Given the description of an element on the screen output the (x, y) to click on. 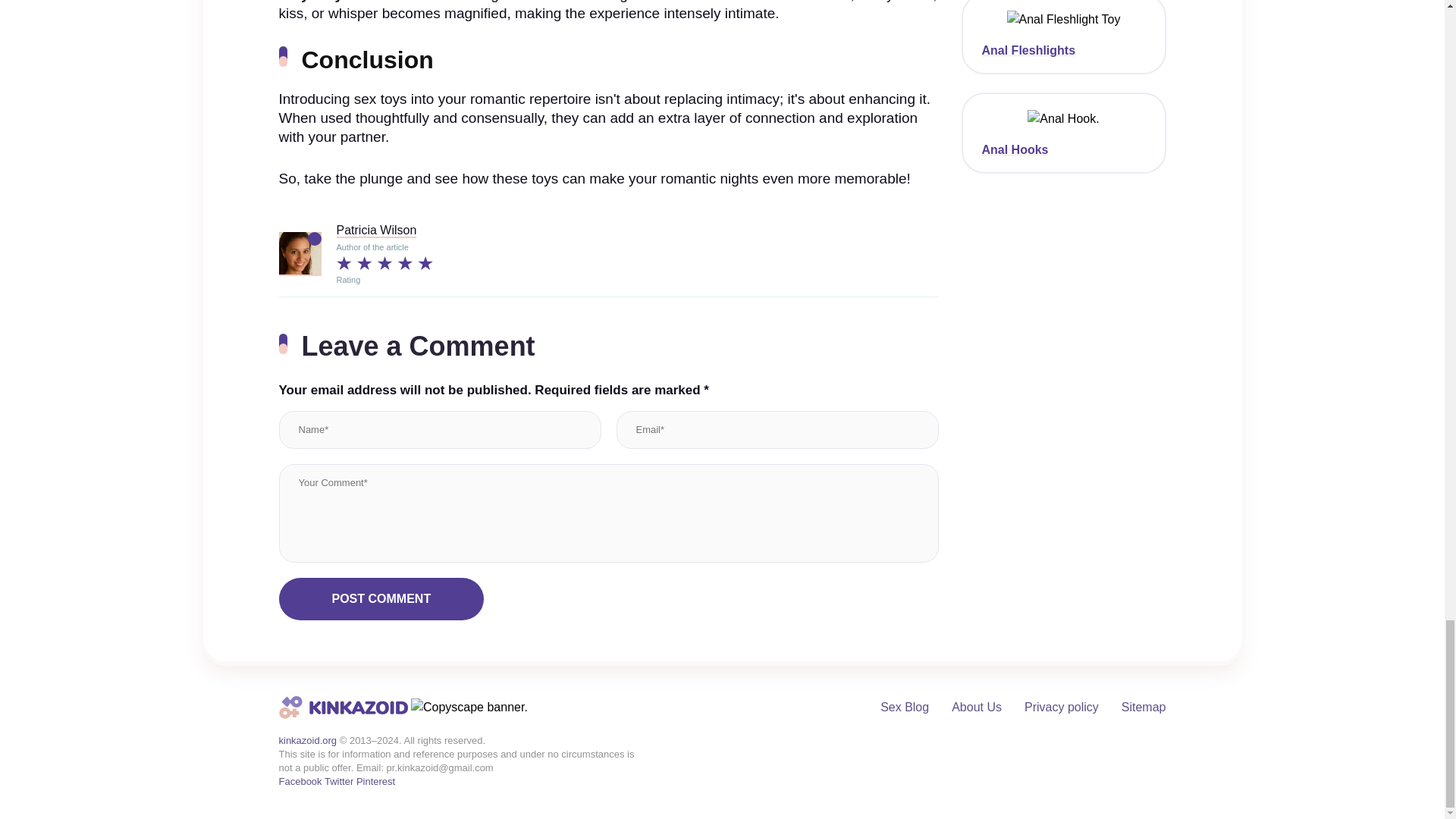
Post Comment (381, 598)
Post Comment (381, 598)
Patricia Wilson (376, 230)
